Given the description of an element on the screen output the (x, y) to click on. 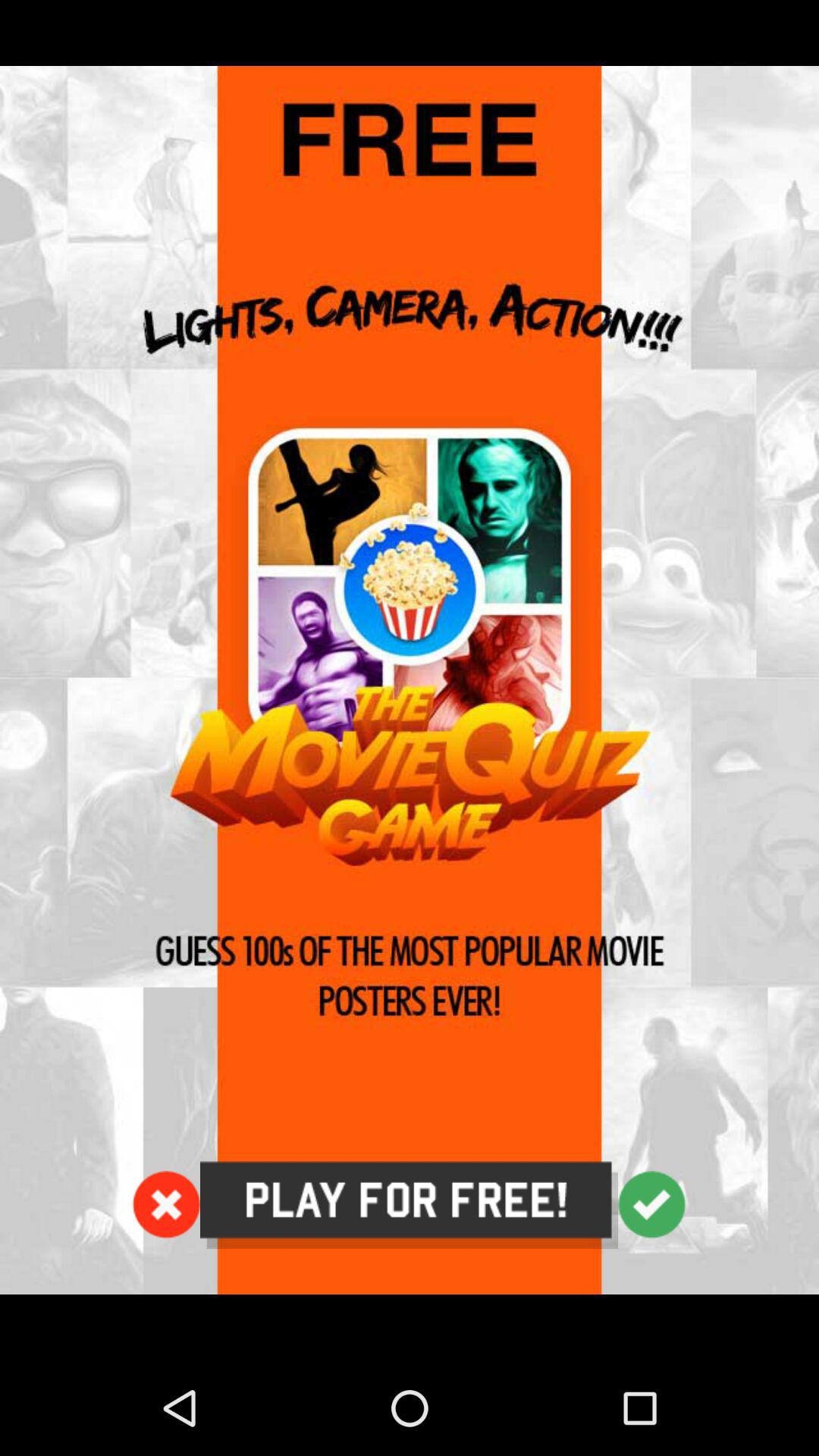
tap to play (409, 1204)
